Given the description of an element on the screen output the (x, y) to click on. 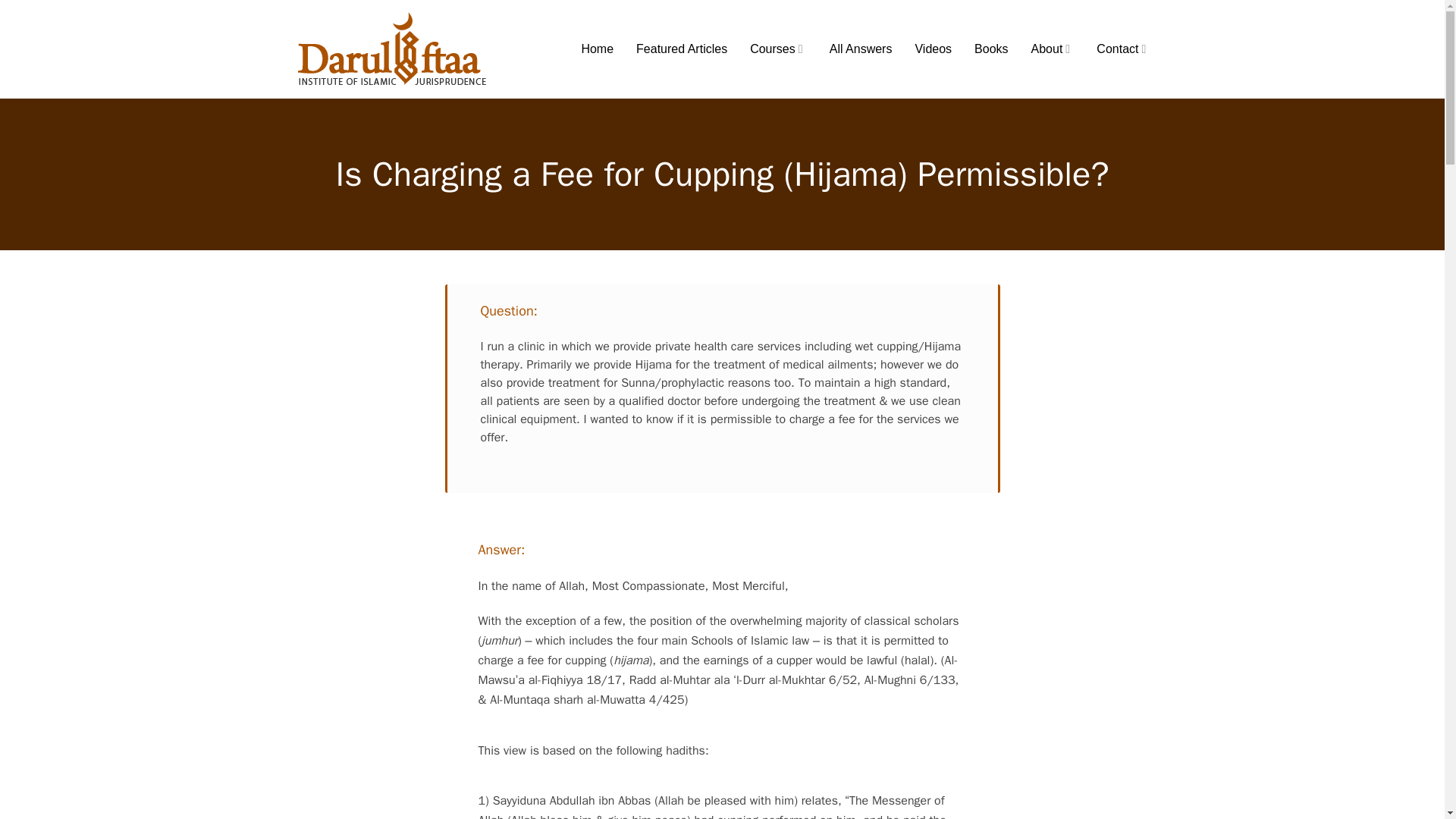
Videos (933, 48)
Contact (1123, 48)
Courses (777, 48)
All Answers (860, 48)
Featured Articles (681, 48)
About (1052, 48)
